Given the description of an element on the screen output the (x, y) to click on. 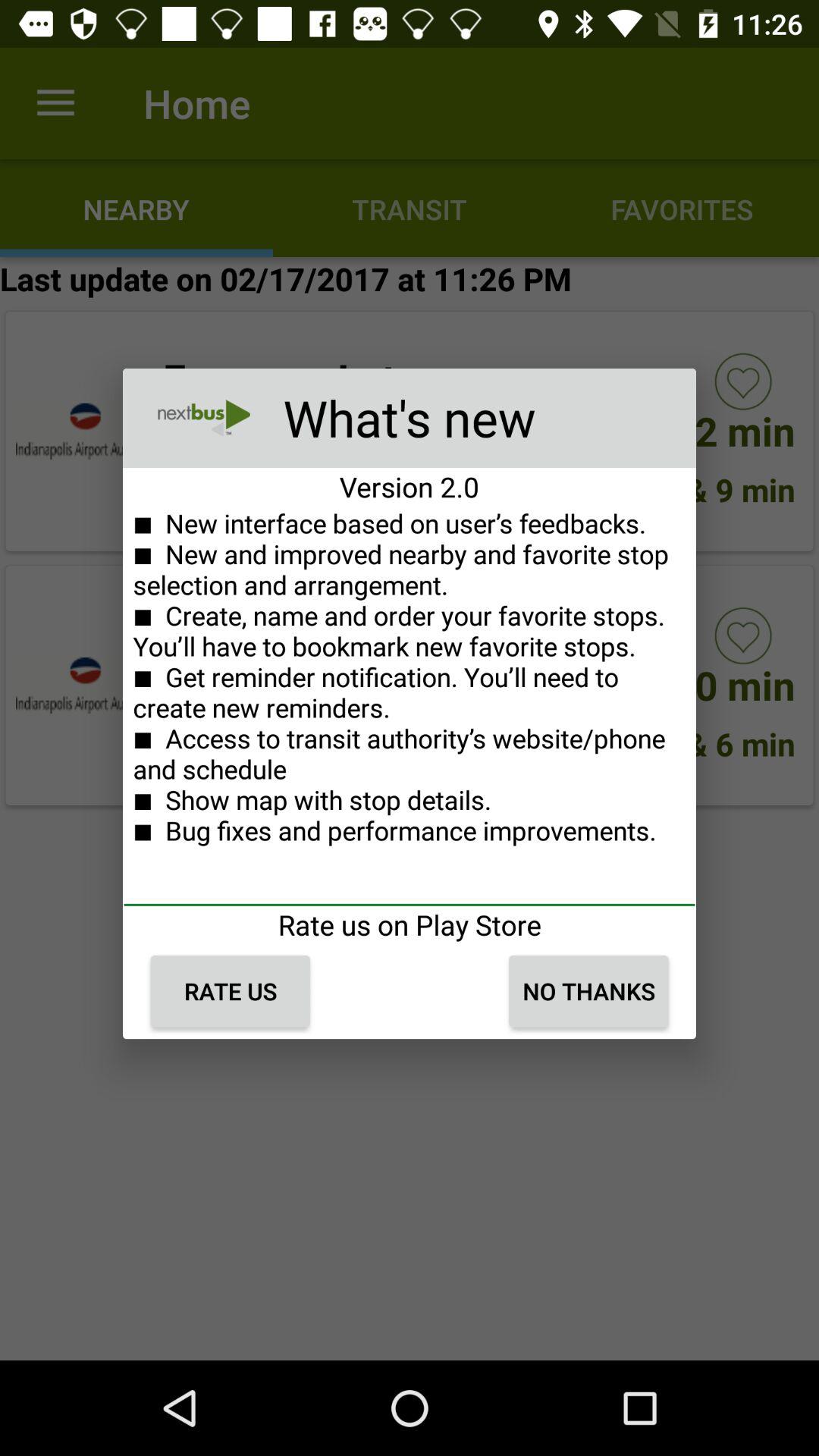
turn off the no thanks icon (588, 991)
